Given the description of an element on the screen output the (x, y) to click on. 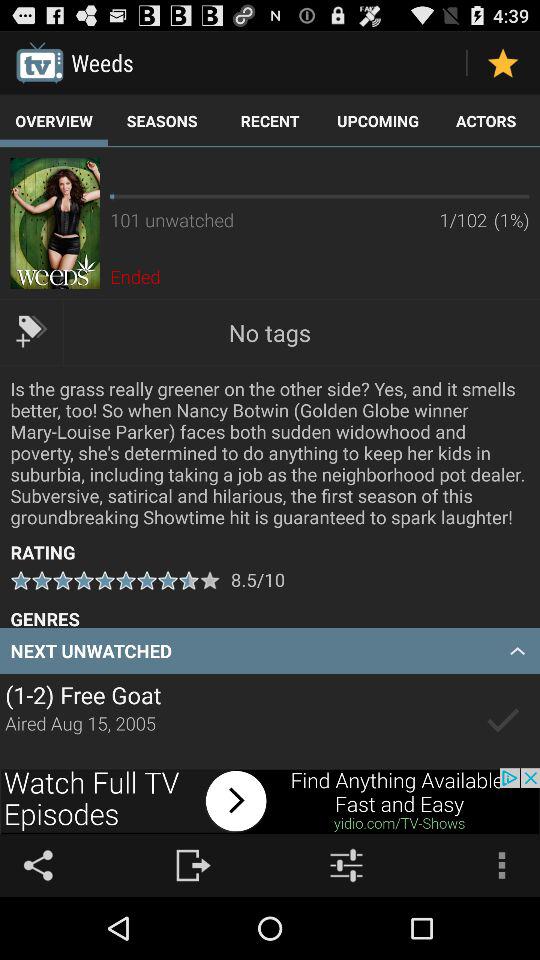
save the tv series (502, 721)
